Given the description of an element on the screen output the (x, y) to click on. 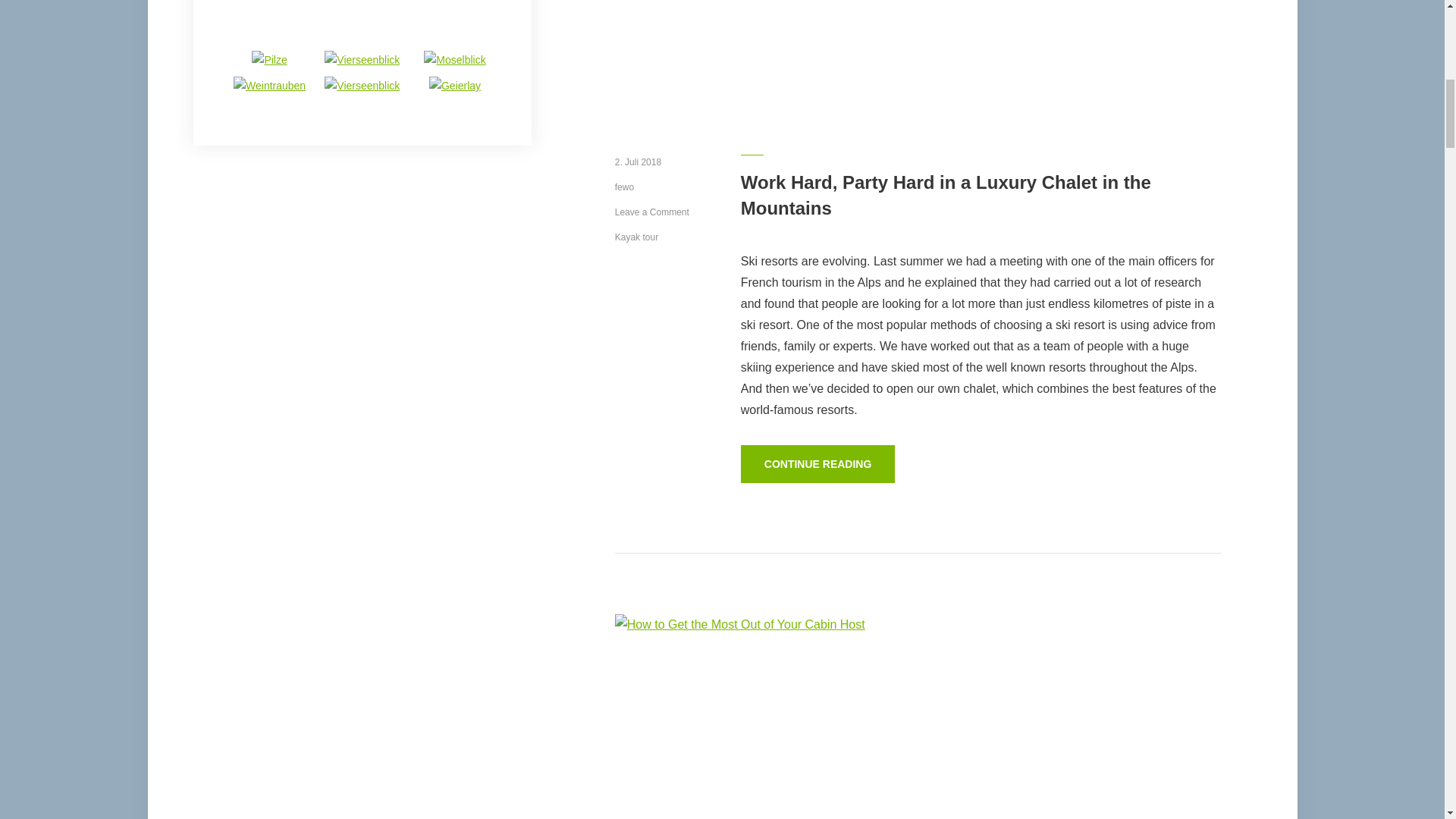
fewo (623, 186)
Kayak tour (636, 236)
Work Hard, Party Hard in a Luxury Chalet in the Mountains (946, 194)
2. Juli 2018 (637, 162)
